Given the description of an element on the screen output the (x, y) to click on. 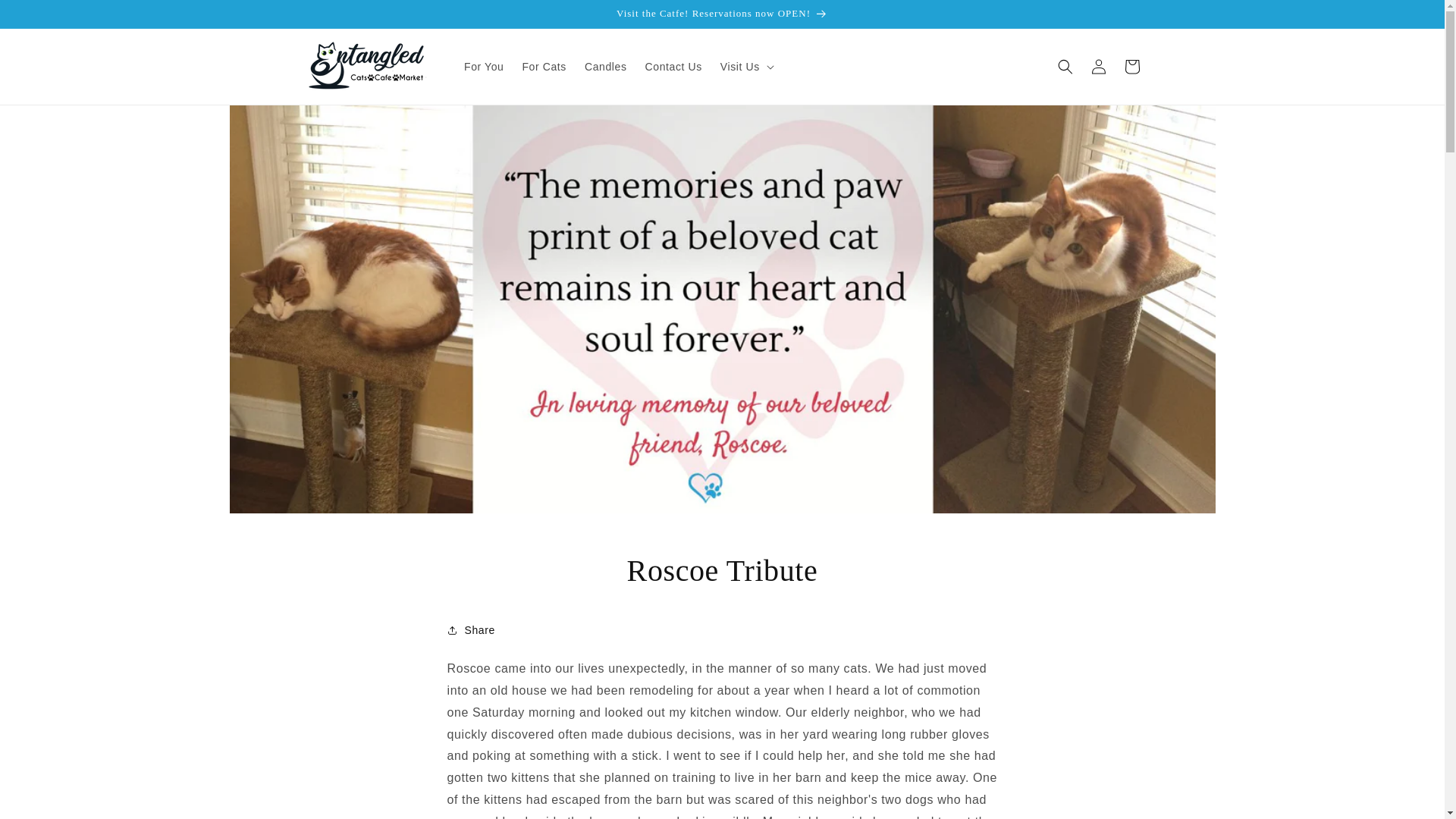
For Cats (543, 66)
Contact Us (673, 66)
Skip to content (45, 17)
Candles (605, 66)
For You (483, 66)
Cart (1131, 66)
Log in (1098, 66)
